Given the description of an element on the screen output the (x, y) to click on. 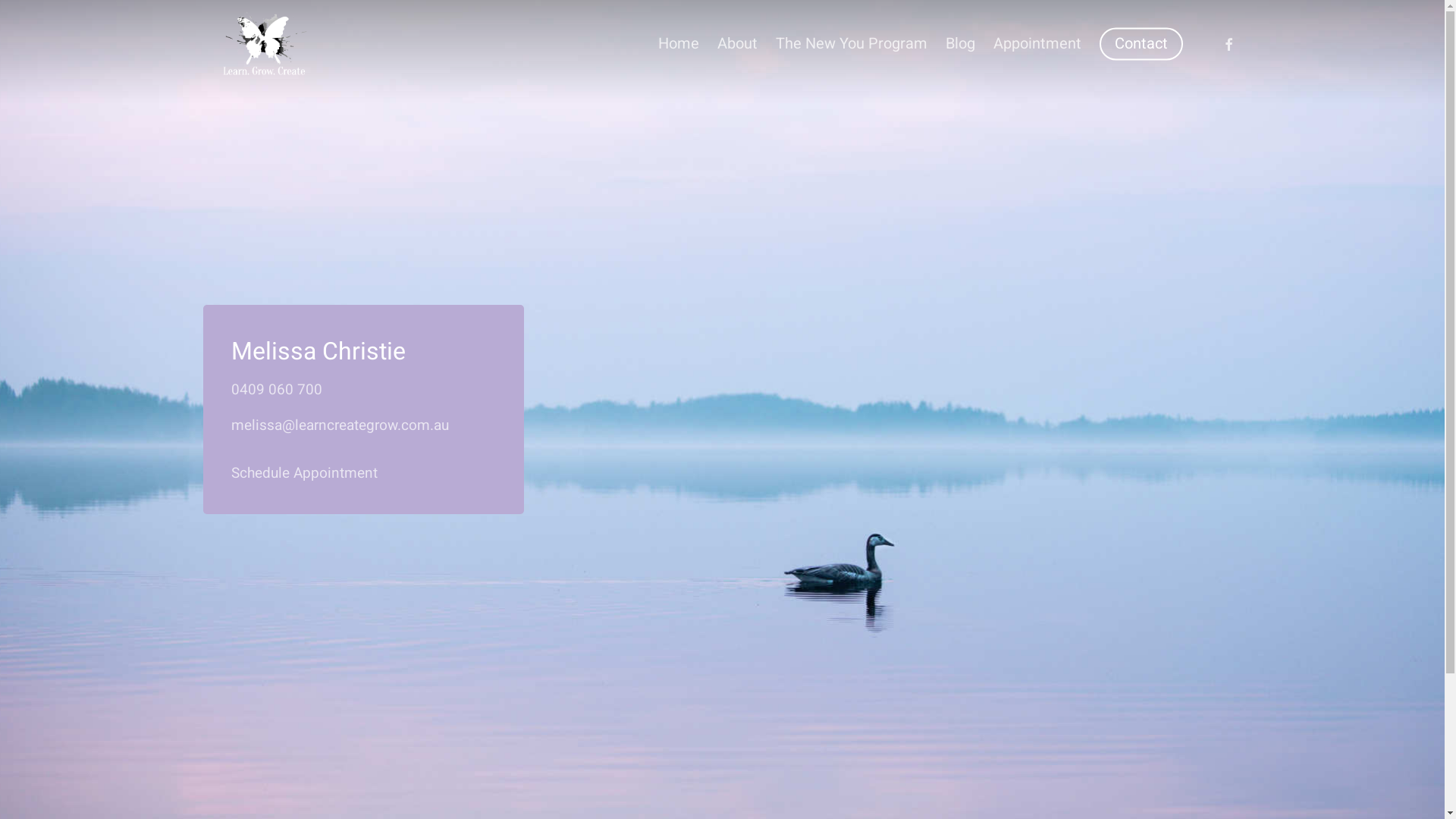
melissa@learncreategrow.com.au Element type: text (339, 425)
0409 060 700 Element type: text (276, 389)
Contact Element type: text (1141, 42)
The New You Program Element type: text (850, 42)
facebook Element type: text (1228, 42)
About Element type: text (737, 42)
Schedule Appointment Element type: text (304, 472)
Appointment Element type: text (1037, 42)
Blog Element type: text (959, 42)
Home Element type: text (678, 42)
